Given the description of an element on the screen output the (x, y) to click on. 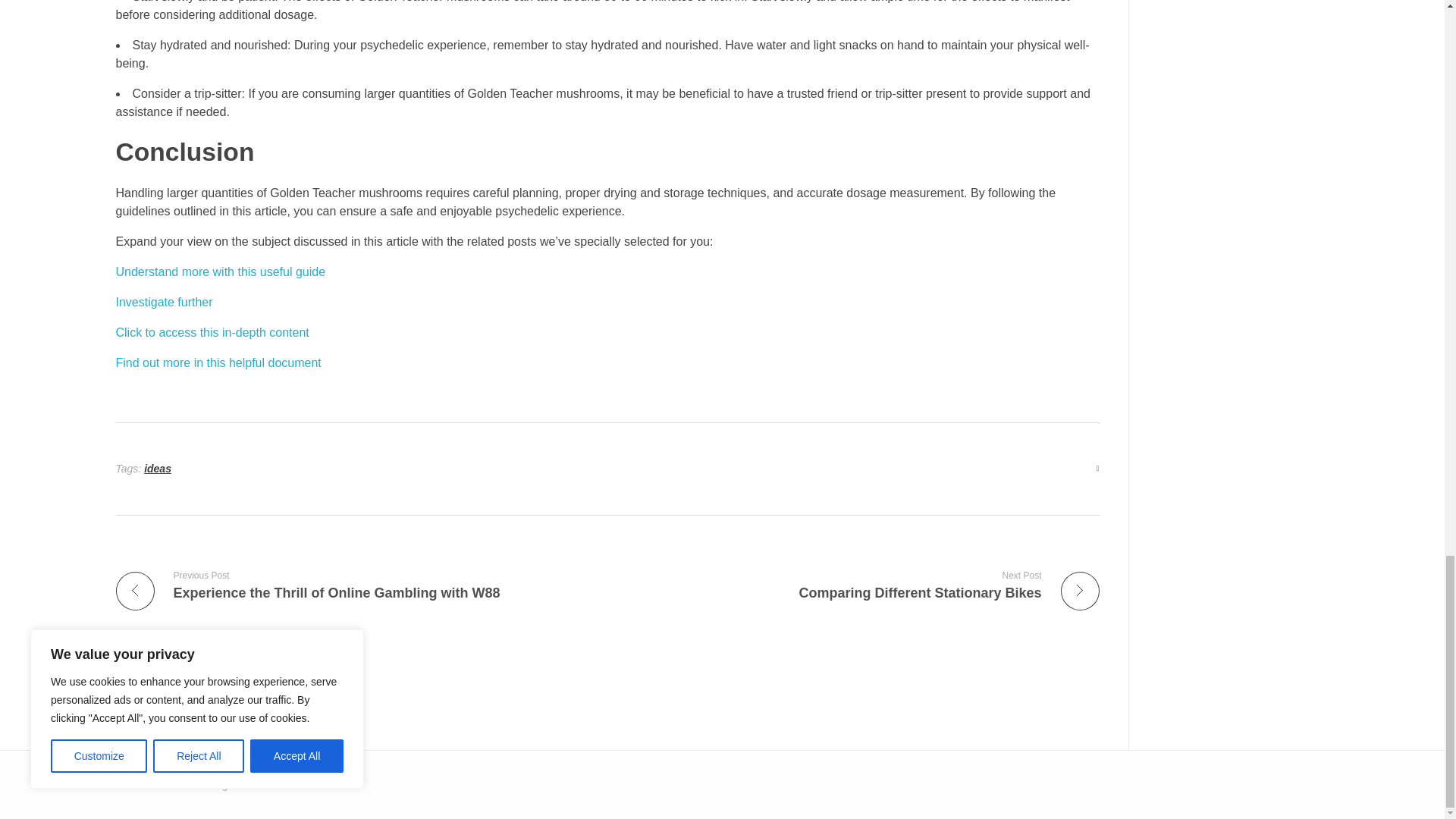
ideas (157, 468)
Investigate further (163, 301)
Understand more with this useful guide (219, 271)
Click to access this in-depth content (211, 332)
Find out more in this helpful document (217, 362)
